Given the description of an element on the screen output the (x, y) to click on. 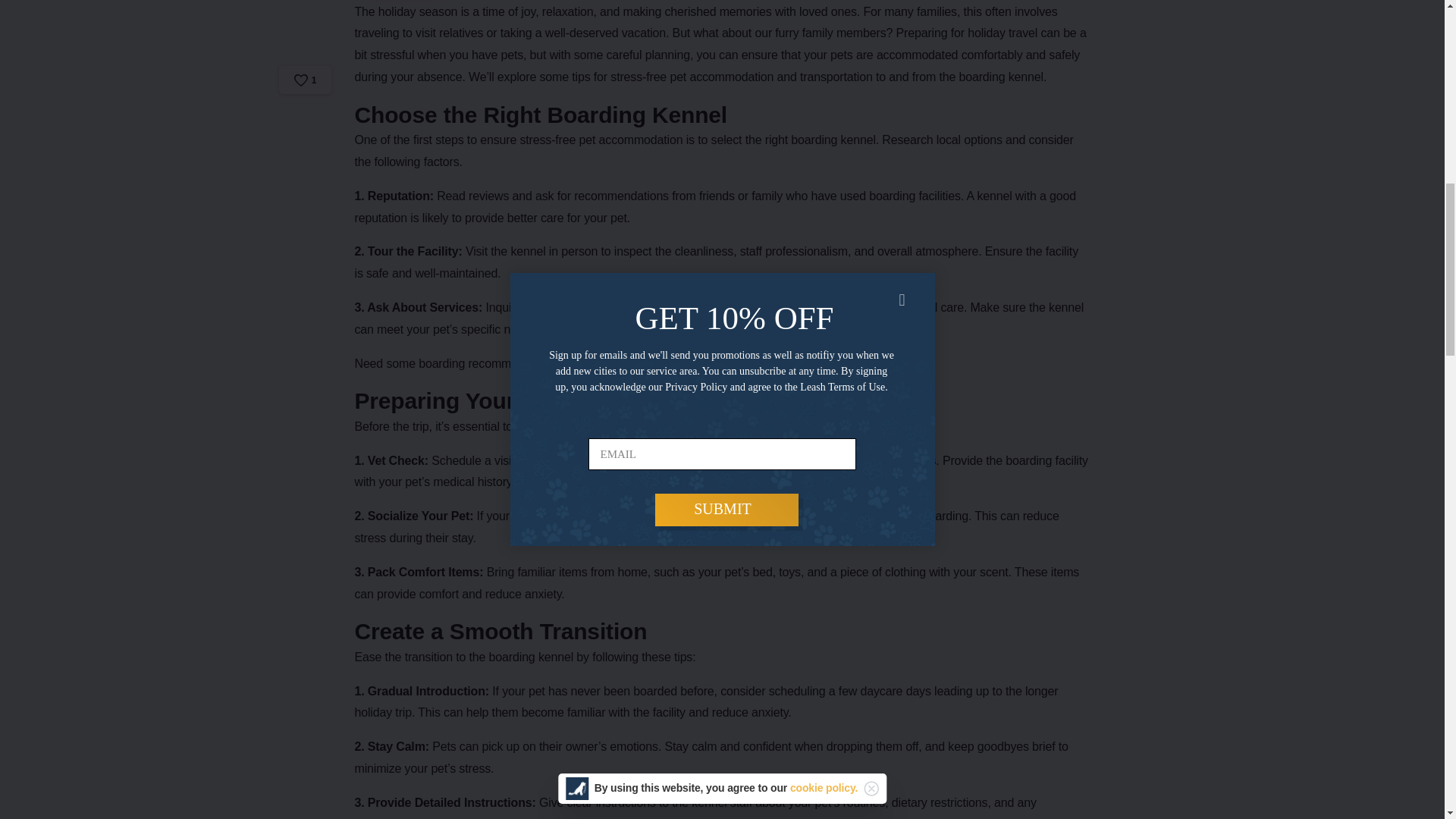
Leash Boarding Partners. (693, 363)
